Given the description of an element on the screen output the (x, y) to click on. 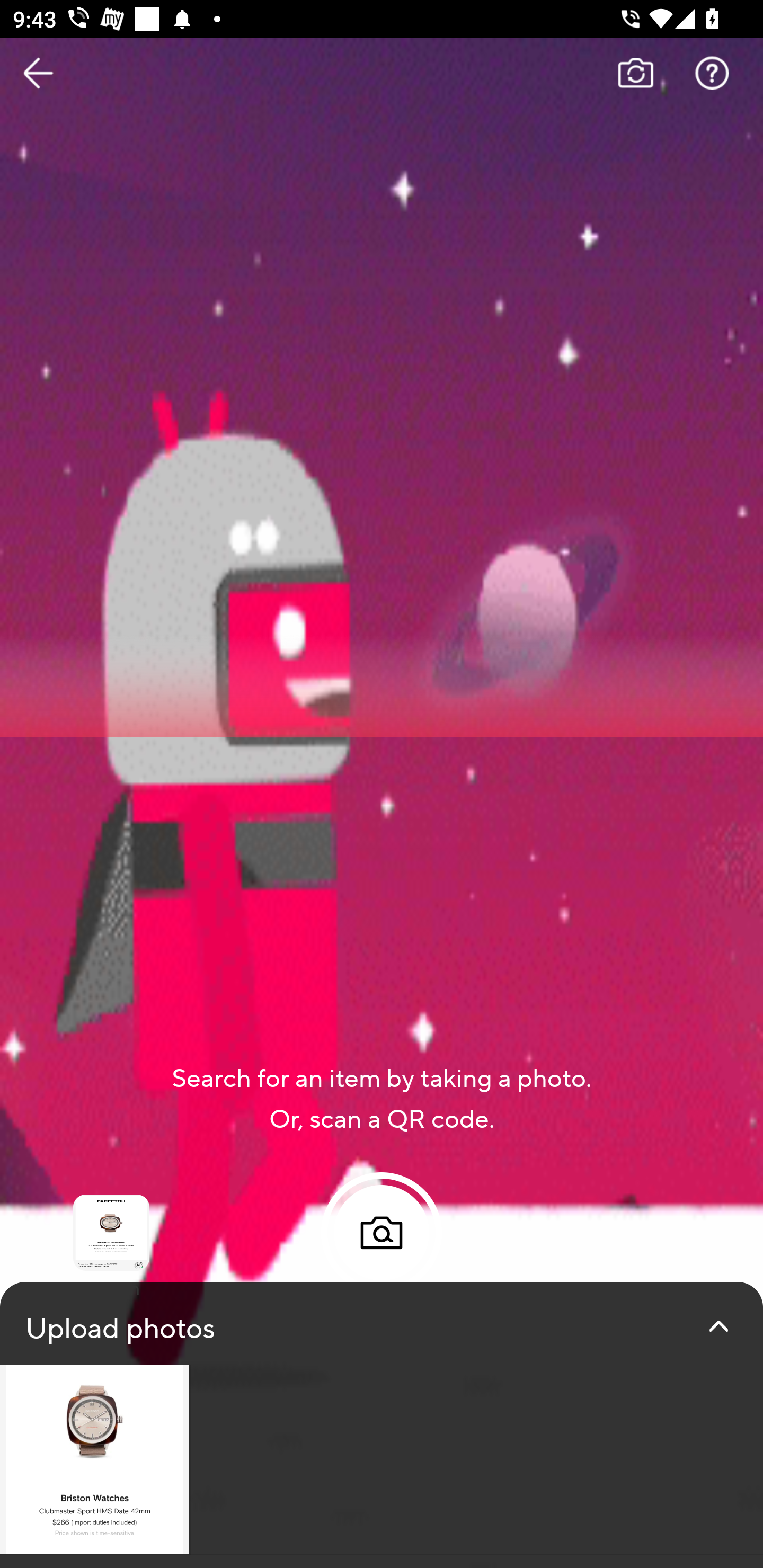
Upload photos  (381, 1425)
 (718, 1326)
